Given the description of an element on the screen output the (x, y) to click on. 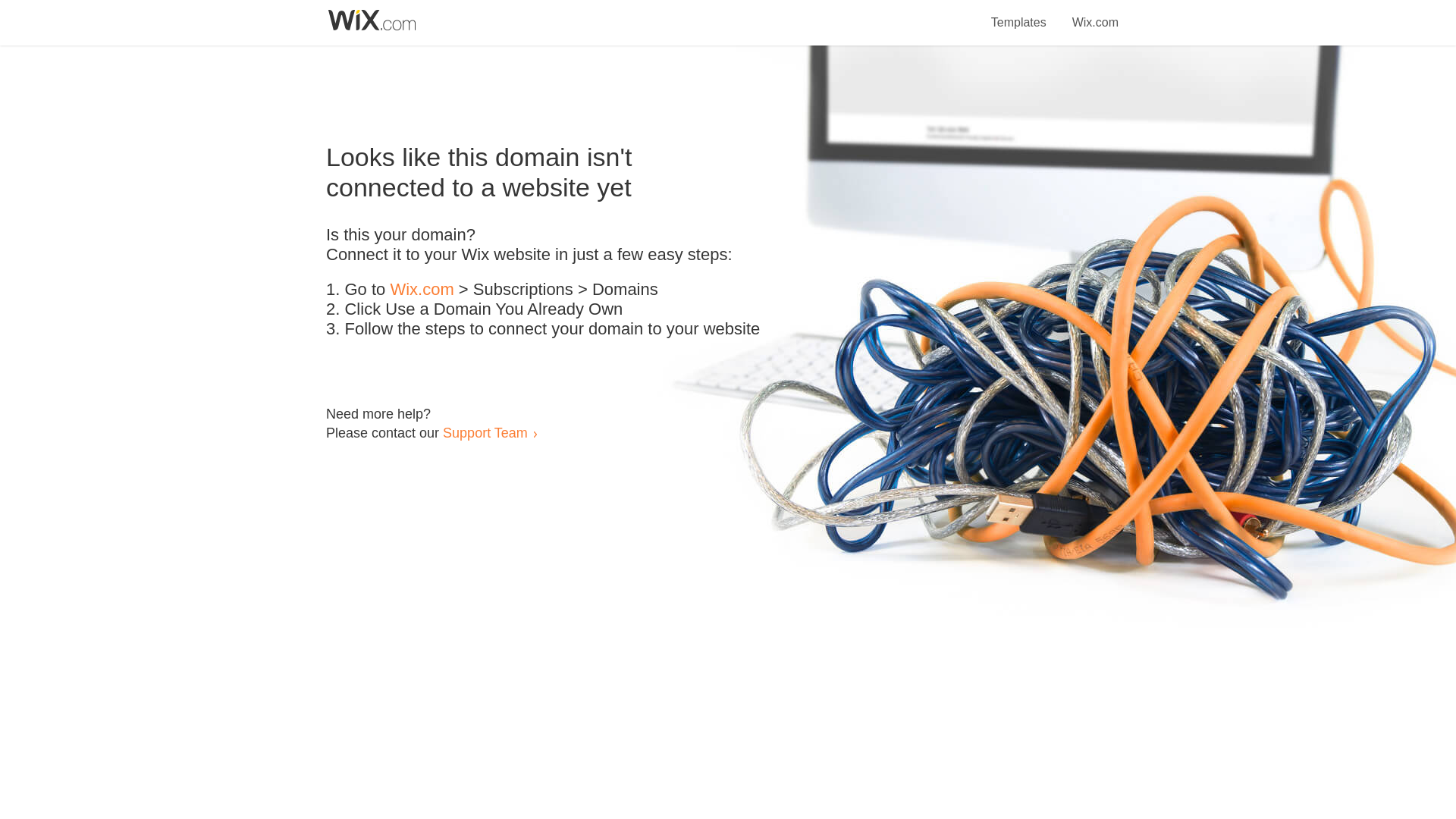
Support Team (484, 432)
Wix.com (421, 289)
Wix.com (1095, 14)
Templates (1018, 14)
